Given the description of an element on the screen output the (x, y) to click on. 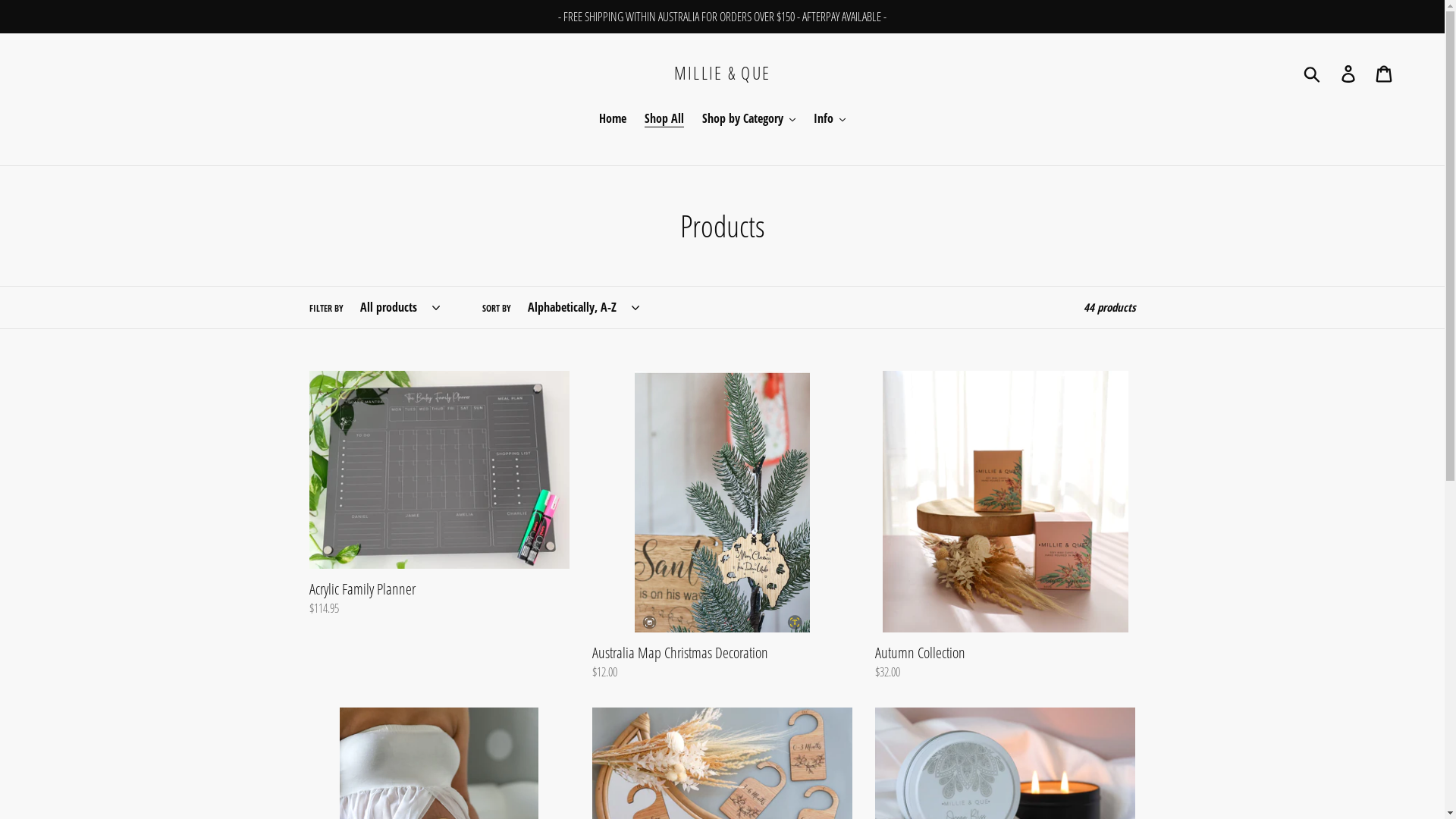
MILLIE & QUE Element type: text (722, 73)
Shop All Element type: text (664, 119)
Log in Element type: text (1349, 73)
Cart Element type: text (1384, 73)
Home Element type: text (612, 119)
Autumn Collection Element type: text (1005, 525)
Australia Map Christmas Decoration Element type: text (722, 525)
Submit Element type: text (1312, 73)
Acrylic Family Planner Element type: text (439, 493)
